Given the description of an element on the screen output the (x, y) to click on. 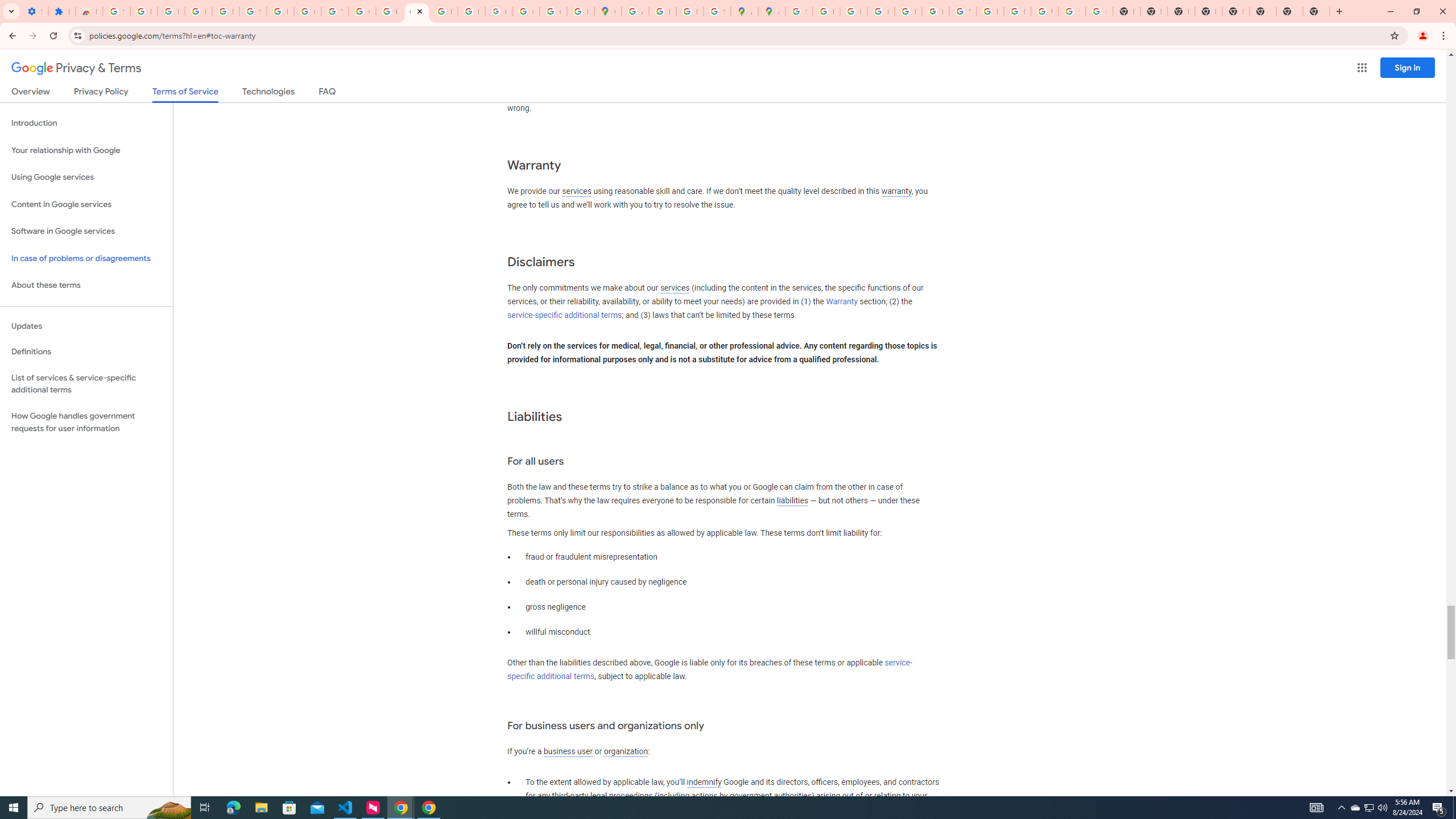
Definitions (86, 352)
Google Account (307, 11)
New Tab (1236, 11)
Google Maps (607, 11)
